Given the description of an element on the screen output the (x, y) to click on. 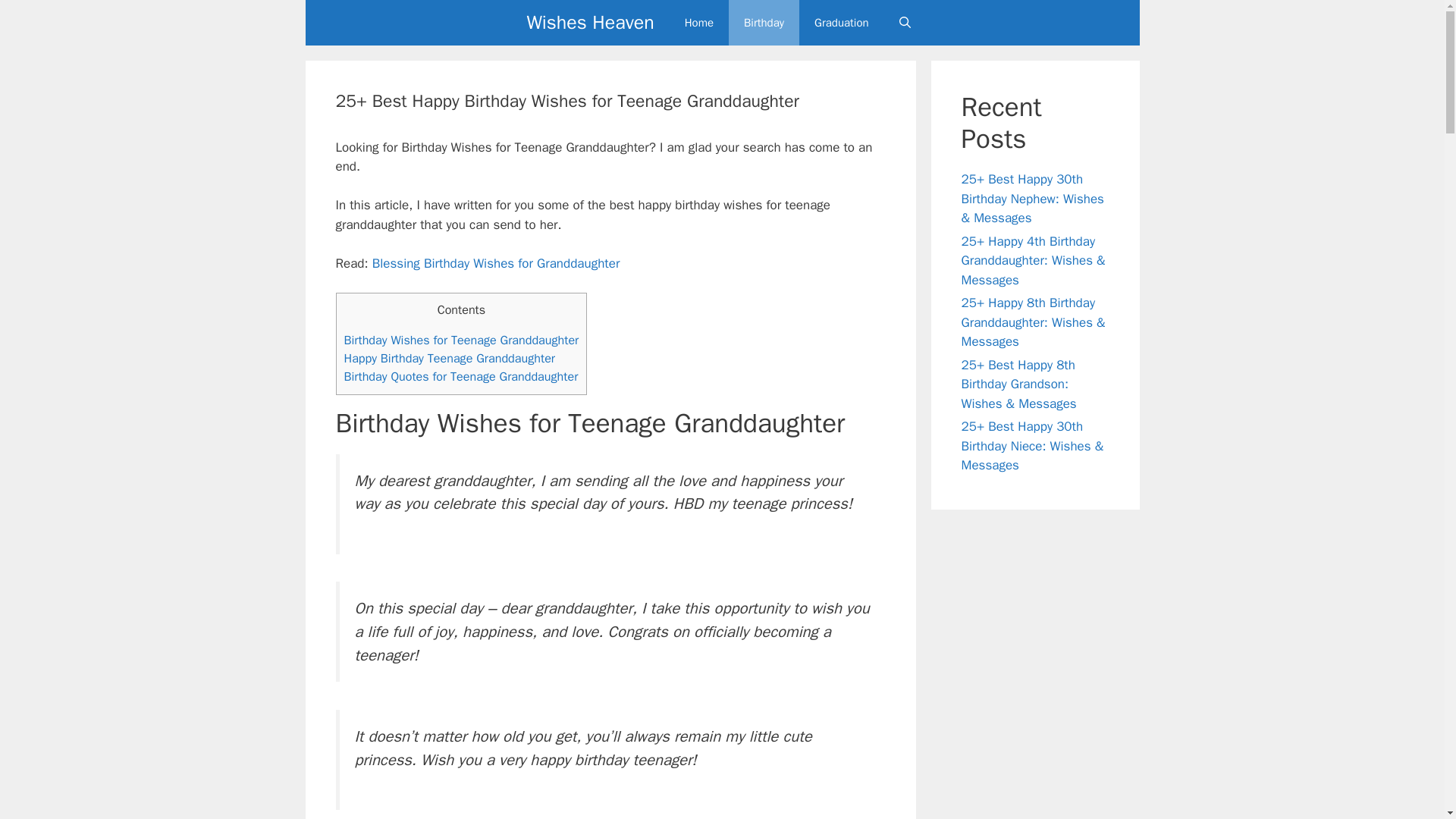
Happy Birthday Teenage Granddaughter (449, 358)
Graduation (841, 22)
Blessing Birthday Wishes for Granddaughter (496, 263)
Birthday (764, 22)
Birthday Quotes for Teenage Granddaughter (460, 376)
Birthday Wishes for Teenage Granddaughter (461, 340)
Home (699, 22)
Wishes Heaven (589, 22)
